Given the description of an element on the screen output the (x, y) to click on. 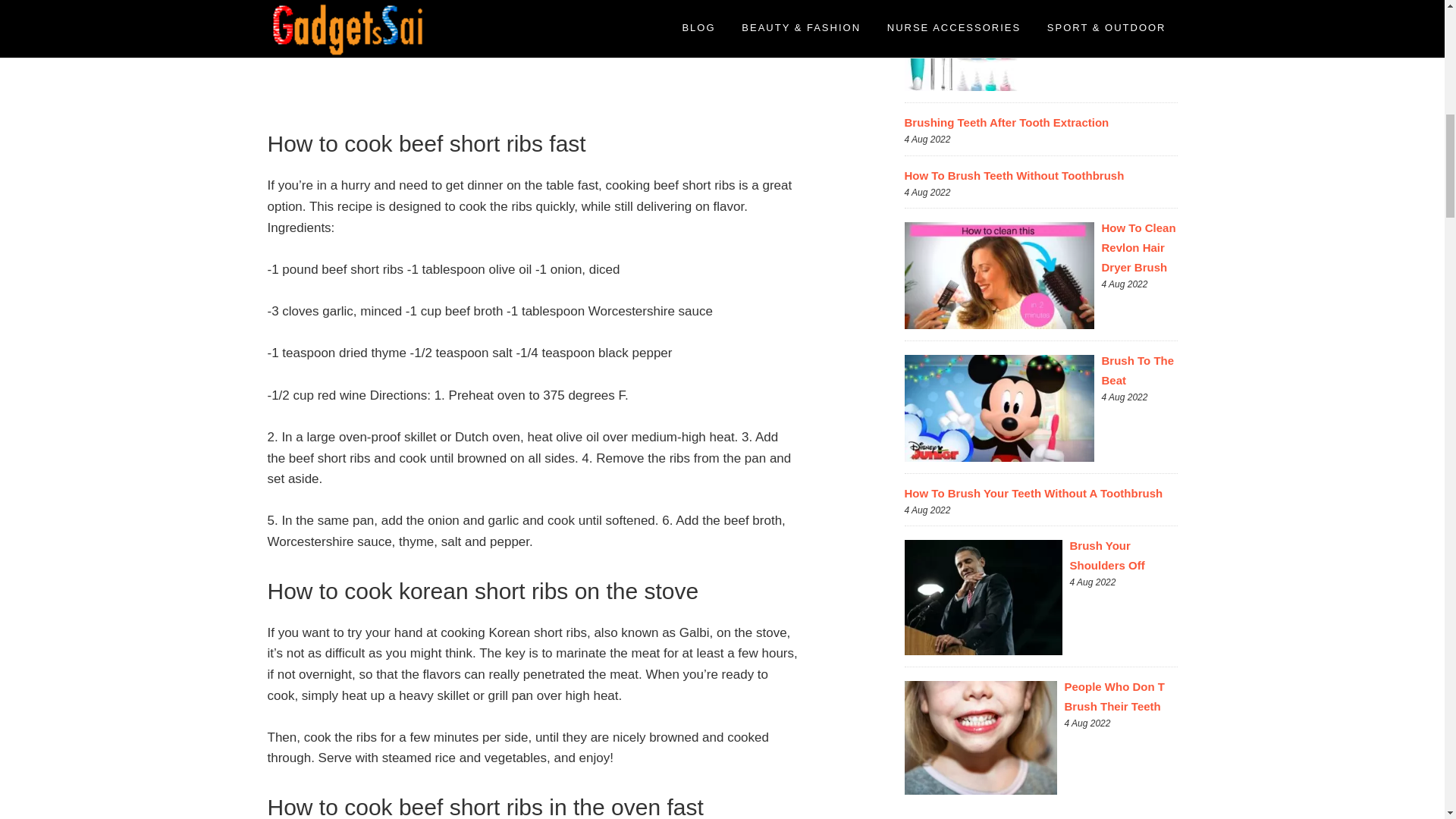
How To Brush Teeth Without Toothbrush (1014, 174)
How To Clean Revlon Hair Dryer Brush (1137, 247)
Brush To The Beat (1136, 369)
How To Brush Your Teeth Without A Toothbrush (1032, 492)
How To Clean Revlon Hair Dryer Brush (1137, 247)
Brush Your Shoulders Off (1106, 554)
How To Brush Teeth Without Toothbrush (1014, 174)
People Who Don T Brush Their Teeth (1115, 696)
Brush Your Shoulders Off (1106, 554)
How To Brush Your Teeth Without A Toothbrush (1032, 492)
